Given the description of an element on the screen output the (x, y) to click on. 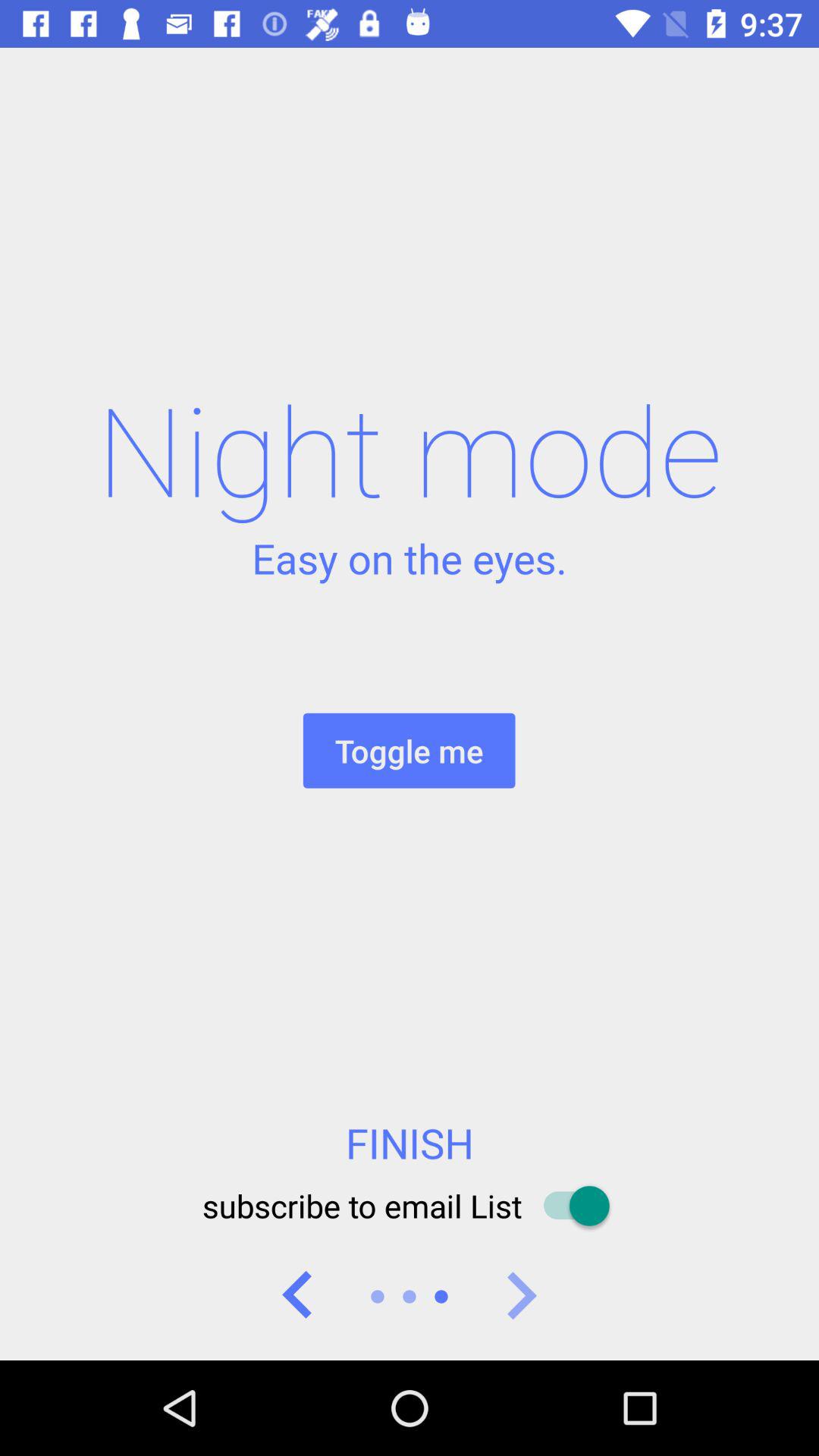
move back a page (297, 1296)
